Given the description of an element on the screen output the (x, y) to click on. 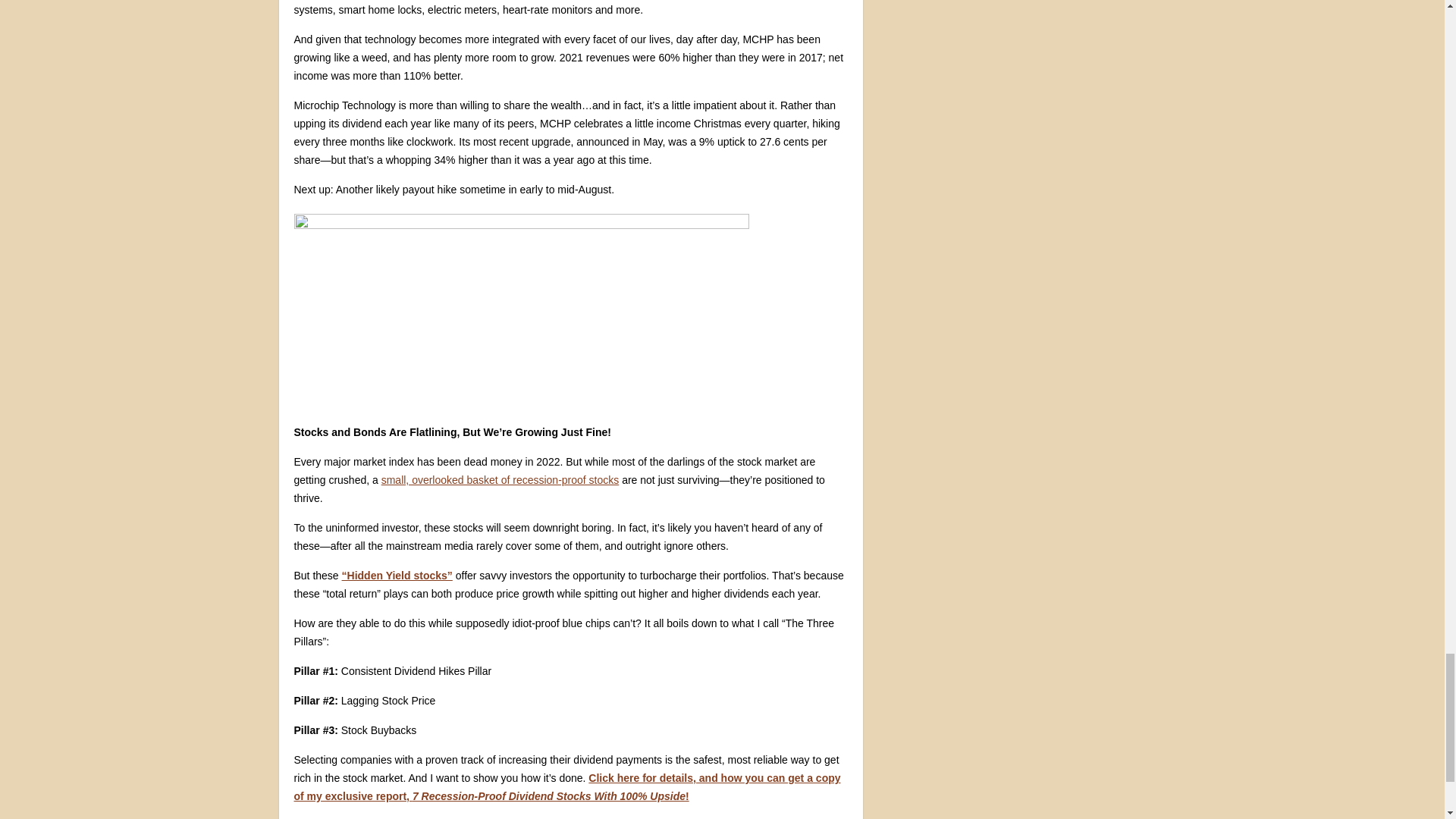
small, overlooked basket of recession-proof stocks (500, 480)
